Given the description of an element on the screen output the (x, y) to click on. 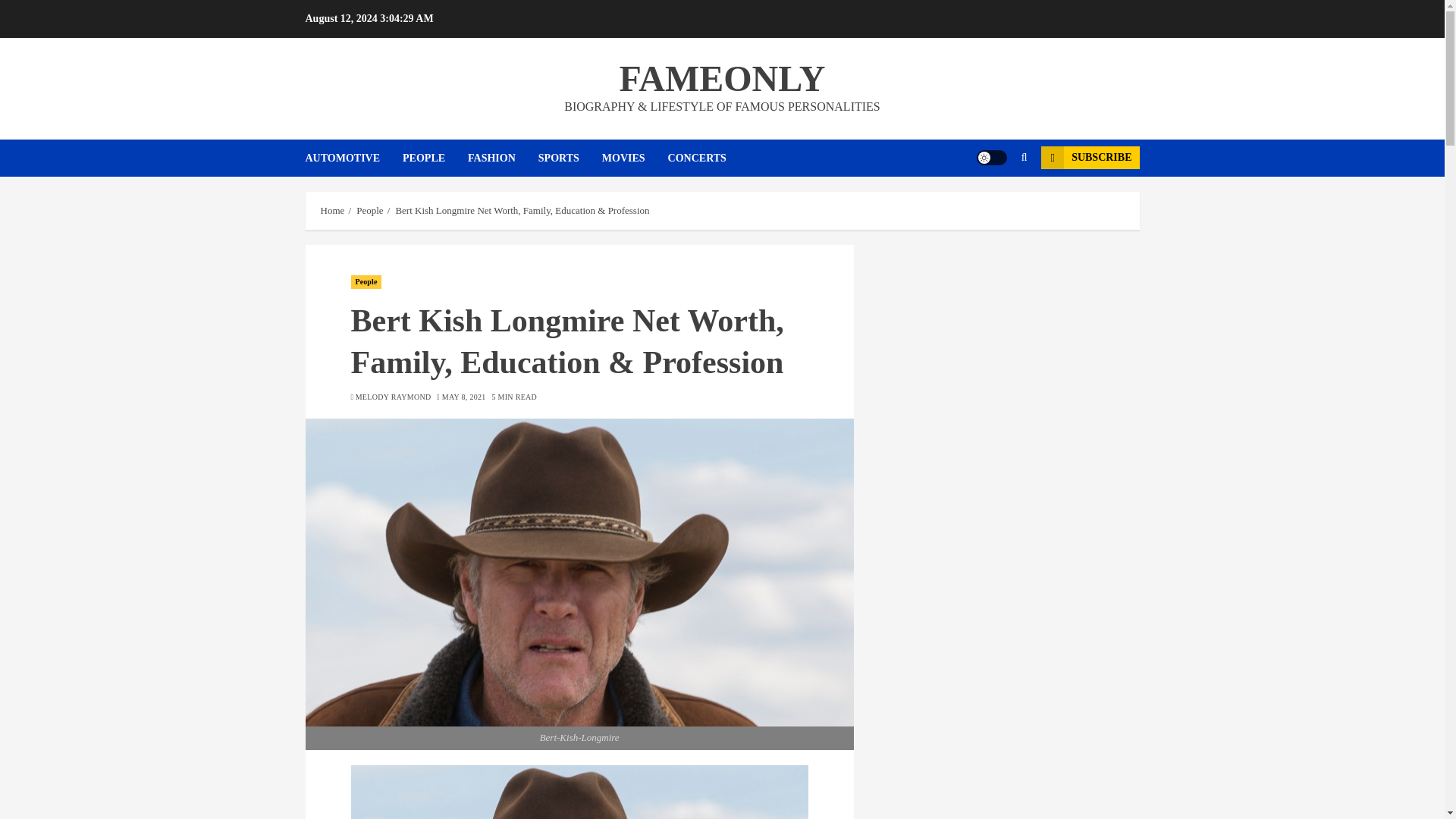
AUTOMOTIVE (353, 157)
FASHION (502, 157)
SUBSCRIBE (1089, 157)
CONCERTS (697, 157)
SPORTS (570, 157)
Home (331, 210)
MOVIES (635, 157)
MELODY RAYMOND (392, 397)
FAMEONLY (721, 78)
MAY 8, 2021 (464, 397)
